Given the description of an element on the screen output the (x, y) to click on. 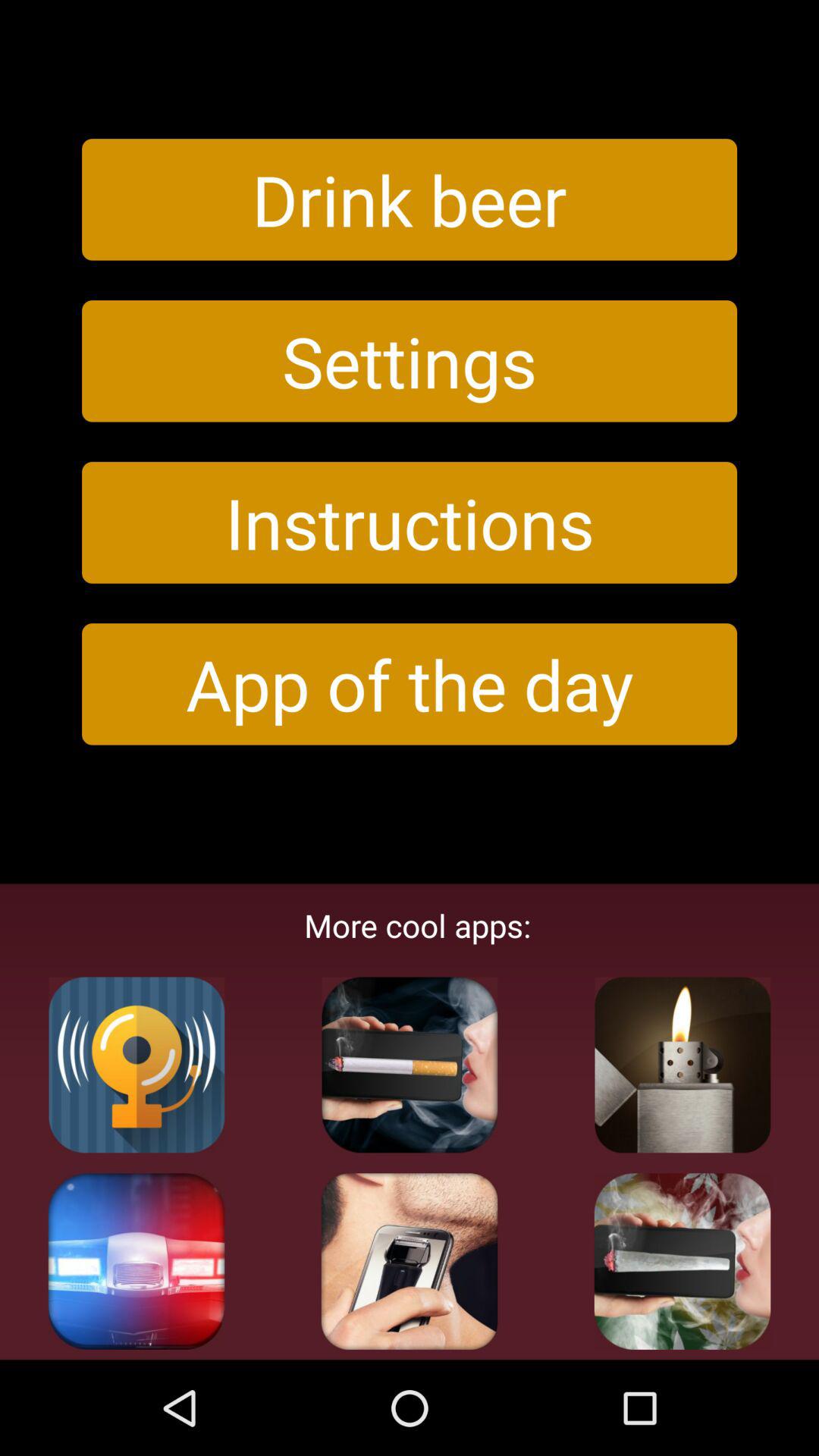
select settings (409, 361)
